Given the description of an element on the screen output the (x, y) to click on. 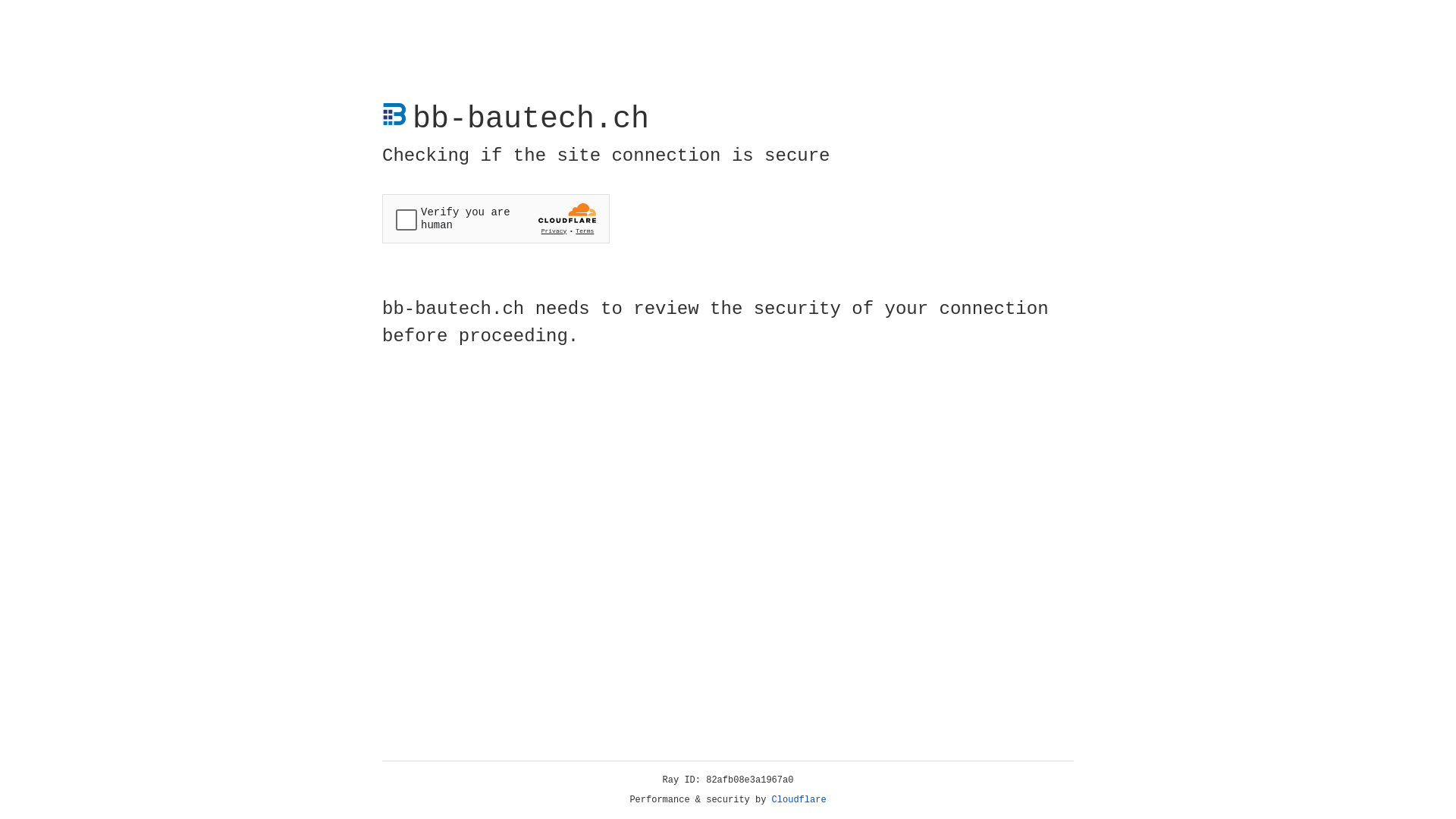
Widget containing a Cloudflare security challenge Element type: hover (495, 218)
Cloudflare Element type: text (798, 799)
